Given the description of an element on the screen output the (x, y) to click on. 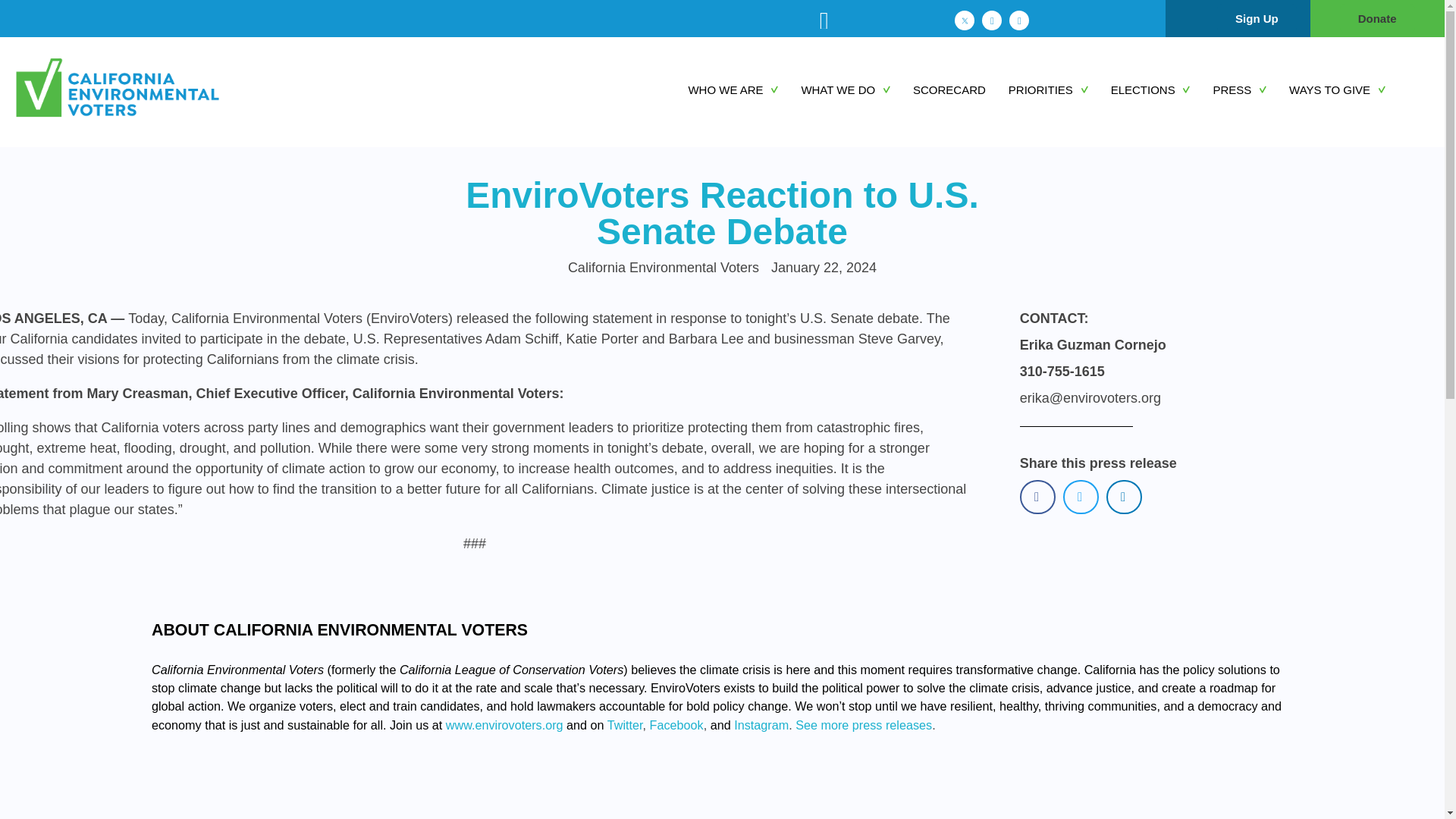
California Environmental Voters (168, 136)
Donate (1377, 18)
WHAT WE DO (856, 90)
California Environmental Voters (144, 88)
SCORECARD (960, 90)
Sign Up (1257, 18)
WHO WE ARE (743, 90)
California Environmental Voters (168, 136)
PRIORITIES (1059, 90)
